Given the description of an element on the screen output the (x, y) to click on. 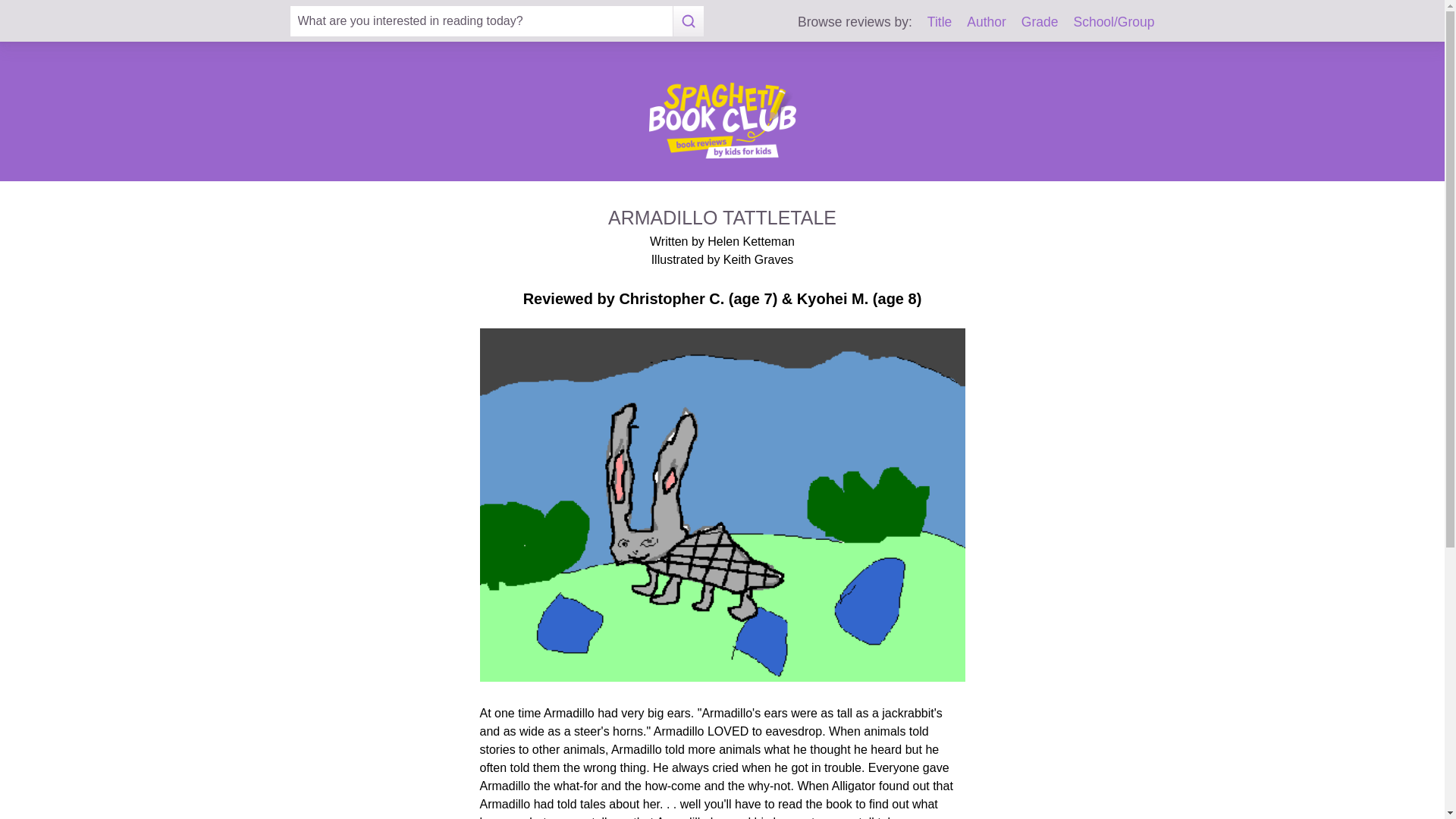
Title (939, 21)
Author (986, 21)
Grade (1040, 21)
